Given the description of an element on the screen output the (x, y) to click on. 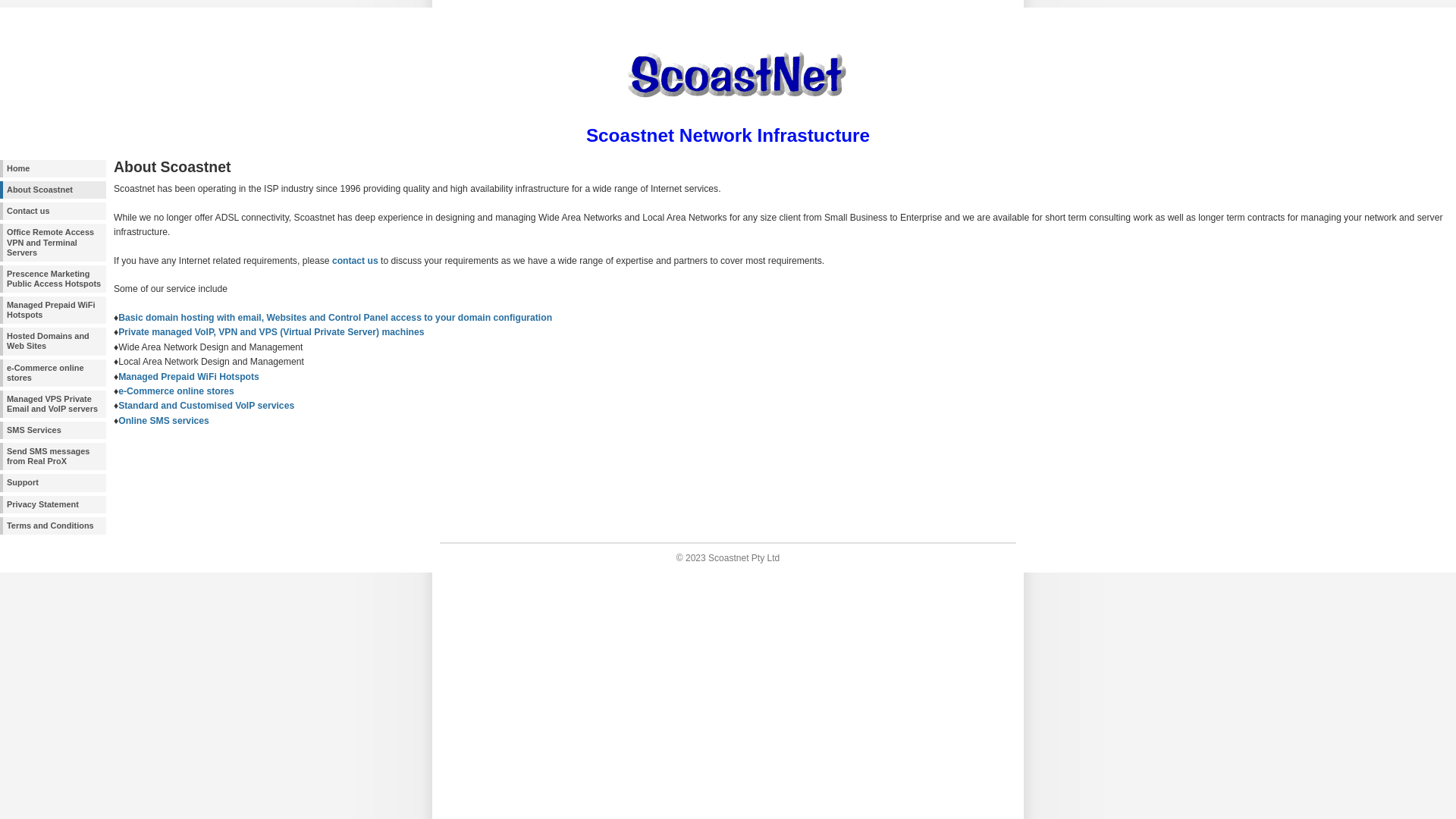
Send SMS messages from Real ProX Element type: text (53, 456)
contact us Element type: text (355, 260)
Home Element type: text (53, 168)
Managed Prepaid WiFi Hotspots Element type: text (53, 309)
SMS Services Element type: text (53, 430)
Contact us Element type: text (53, 210)
About Scoastnet Element type: text (53, 189)
Privacy Statement Element type: text (53, 504)
Scoastnet Pty Ltd Element type: text (743, 557)
e-Commerce online stores Element type: text (53, 372)
Online SMS services Element type: text (163, 420)
Prescence Marketing Public Access Hotspots Element type: text (53, 278)
Standard and Customised VoIP services Element type: text (206, 405)
Office Remote Access VPN and Terminal Servers Element type: text (53, 241)
Managed VPS Private Email and VoIP servers Element type: text (53, 403)
e-Commerce online stores Element type: text (176, 390)
Support Element type: text (53, 482)
Hosted Domains and Web Sites Element type: text (53, 340)
Managed Prepaid WiFi Hotspots Element type: text (188, 376)
Terms and Conditions Element type: text (53, 525)
